Given the description of an element on the screen output the (x, y) to click on. 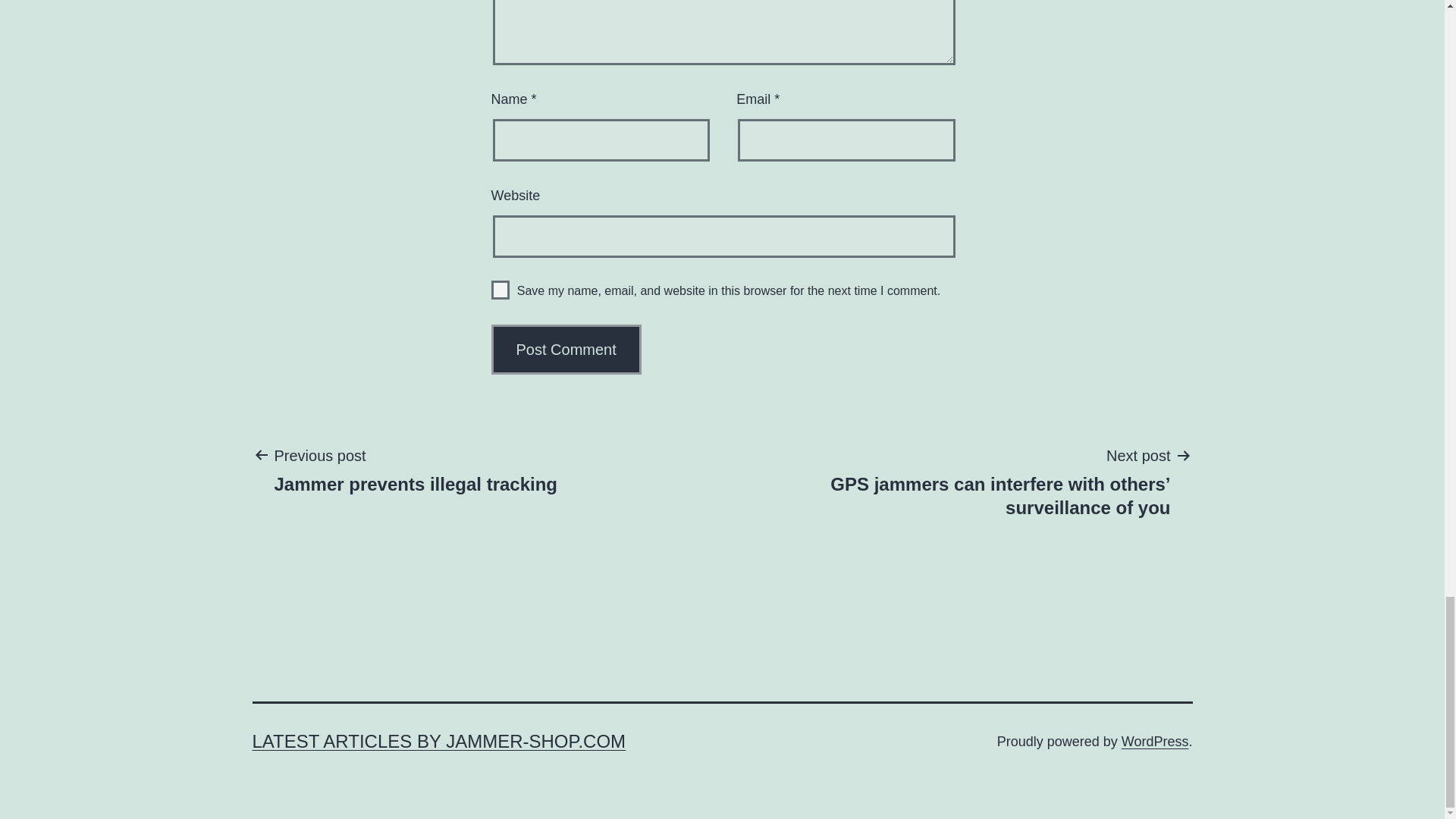
WordPress (1155, 741)
Post Comment (567, 349)
yes (500, 289)
LATEST ARTICLES BY JAMMER-SHOP.COM (415, 469)
Post Comment (438, 741)
